Given the description of an element on the screen output the (x, y) to click on. 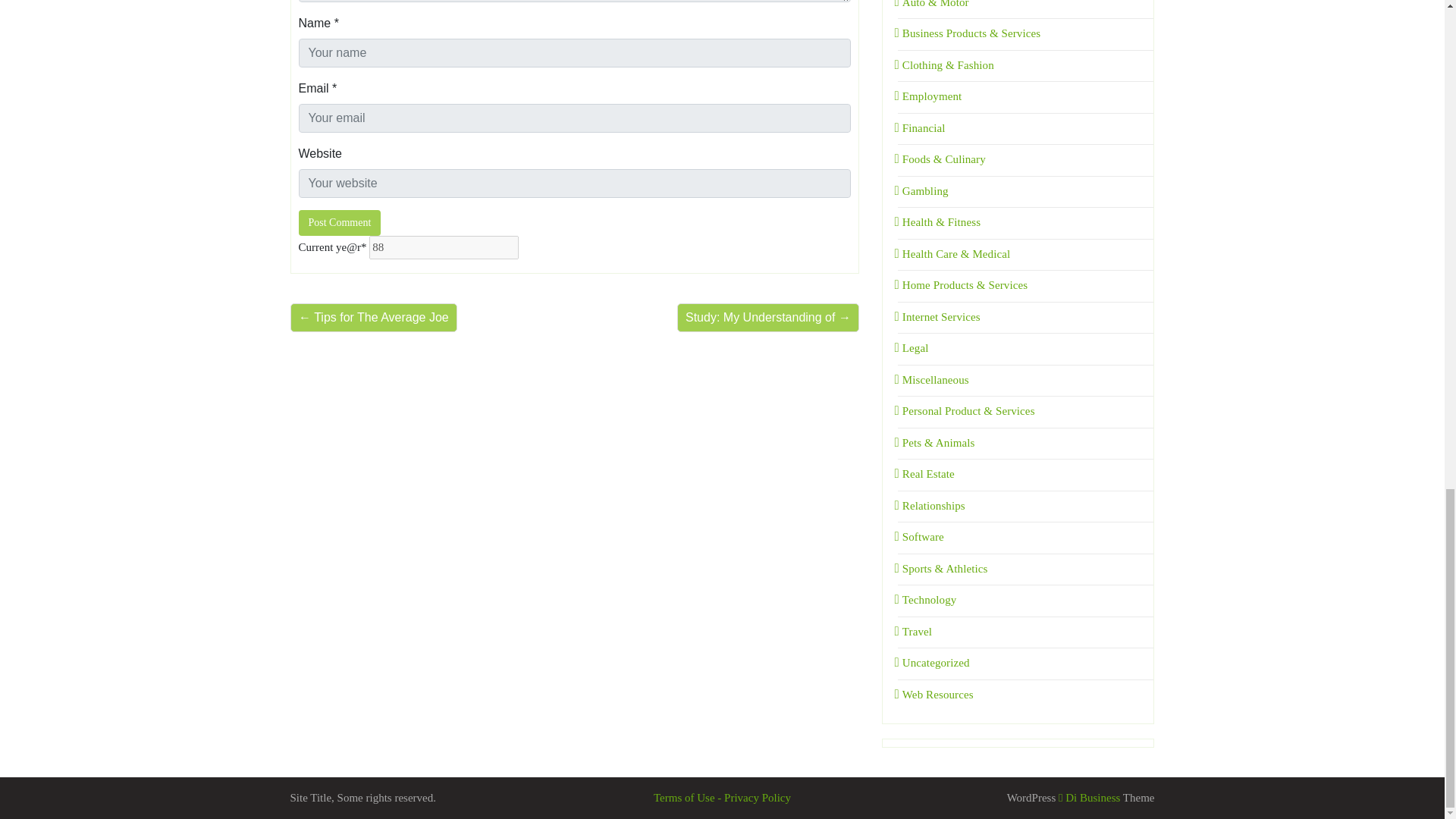
Post Comment (339, 222)
88 (443, 247)
Post Comment (339, 222)
